Given the description of an element on the screen output the (x, y) to click on. 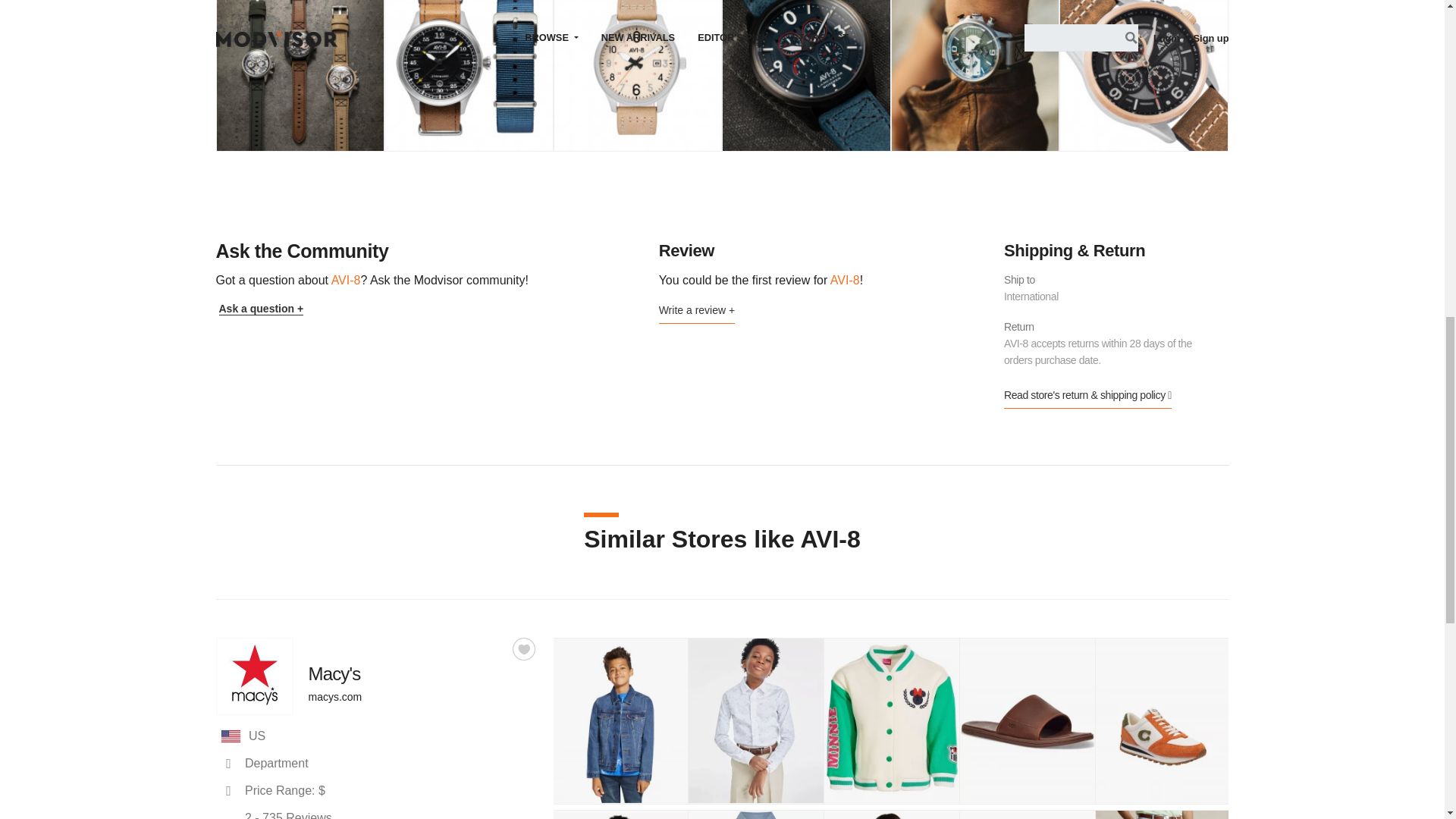
AVI-8 (300, 75)
AVI-8 (469, 75)
AVI-8 (1143, 75)
AVI-8 (805, 75)
AVI-8 (975, 75)
AVI-8 (638, 75)
